Given the description of an element on the screen output the (x, y) to click on. 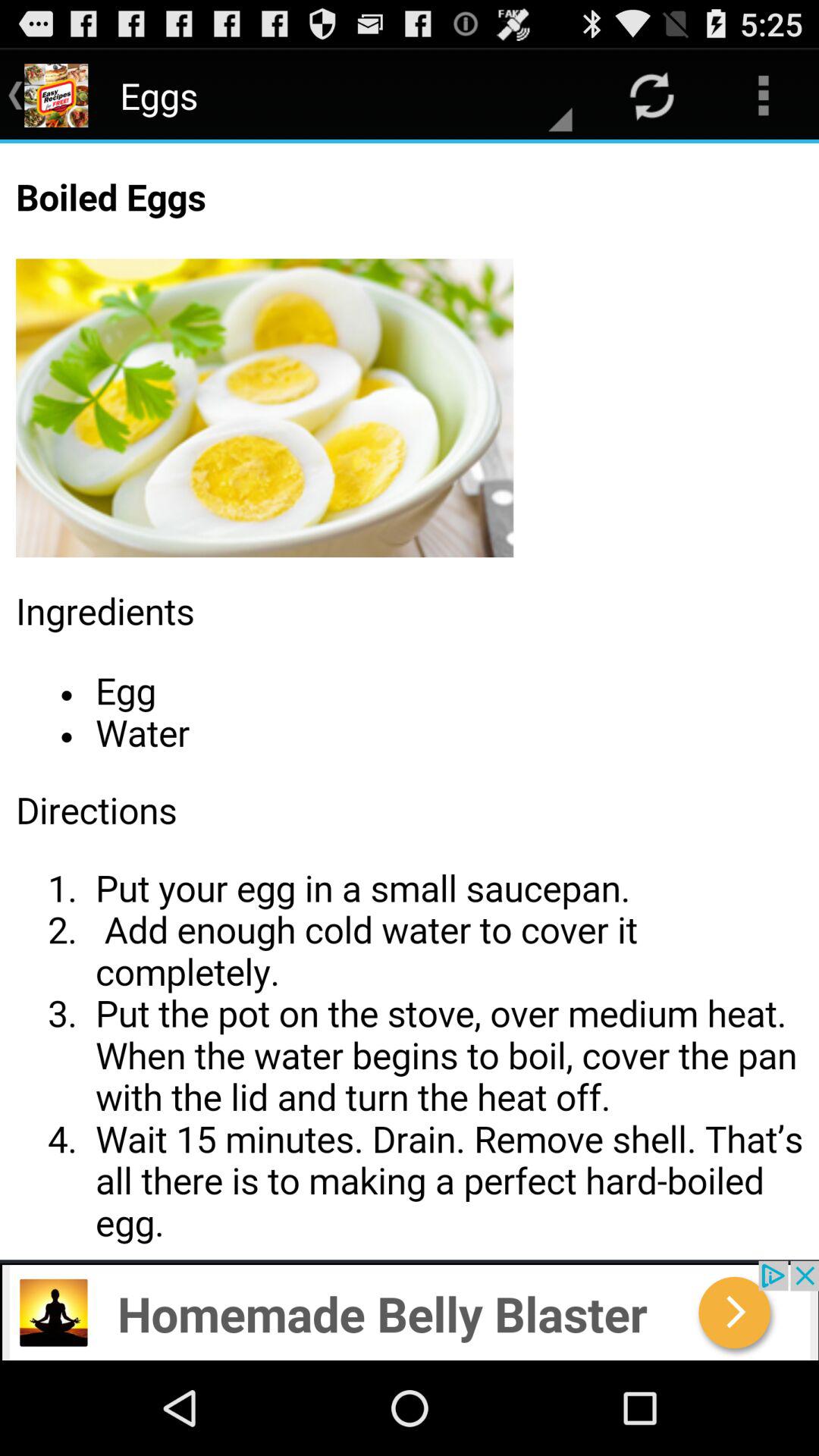
advertisement (409, 1310)
